Given the description of an element on the screen output the (x, y) to click on. 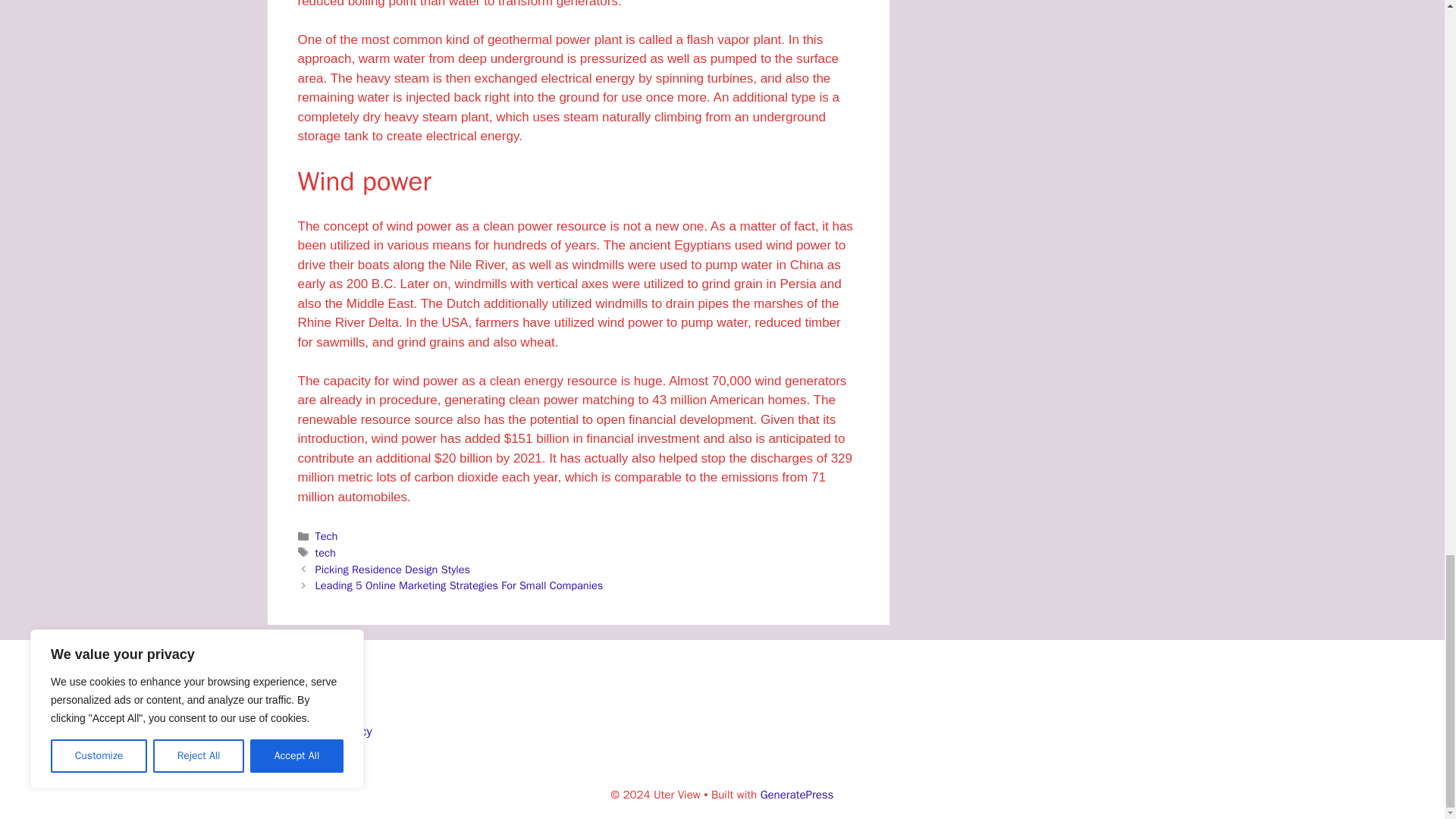
Leading 5 Online Marketing Strategies For Small Companies (459, 585)
Picking Residence Design Styles (392, 569)
Tech (326, 535)
tech (325, 552)
